Given the description of an element on the screen output the (x, y) to click on. 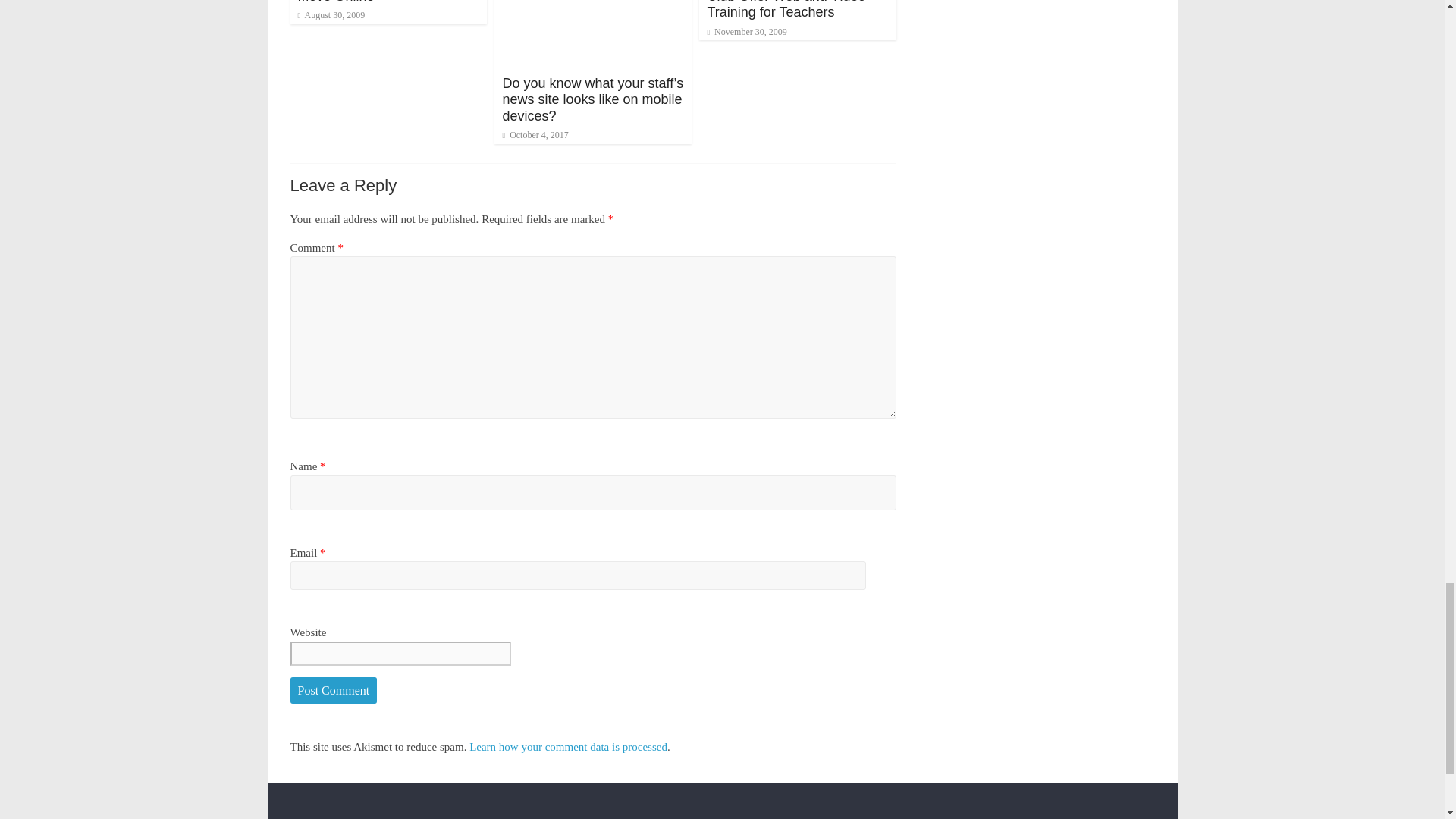
11:04 am (331, 14)
Post Comment (333, 690)
